Given the description of an element on the screen output the (x, y) to click on. 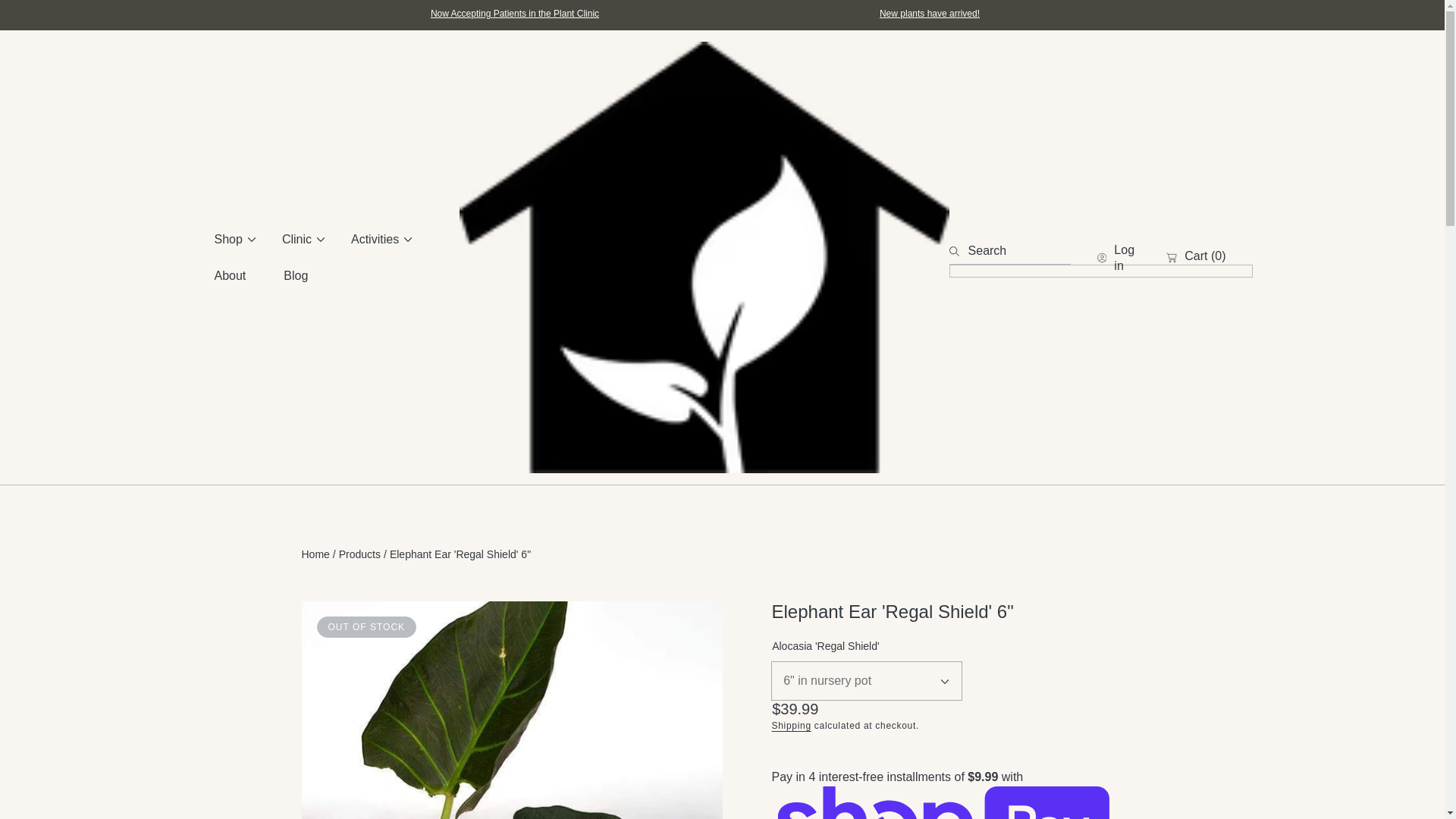
New plants have arrived! (929, 13)
SKIP TO CONTENT (82, 18)
Shop Plants (929, 13)
Now Accepting Patients in the Plant Clinic (514, 13)
